Given the description of an element on the screen output the (x, y) to click on. 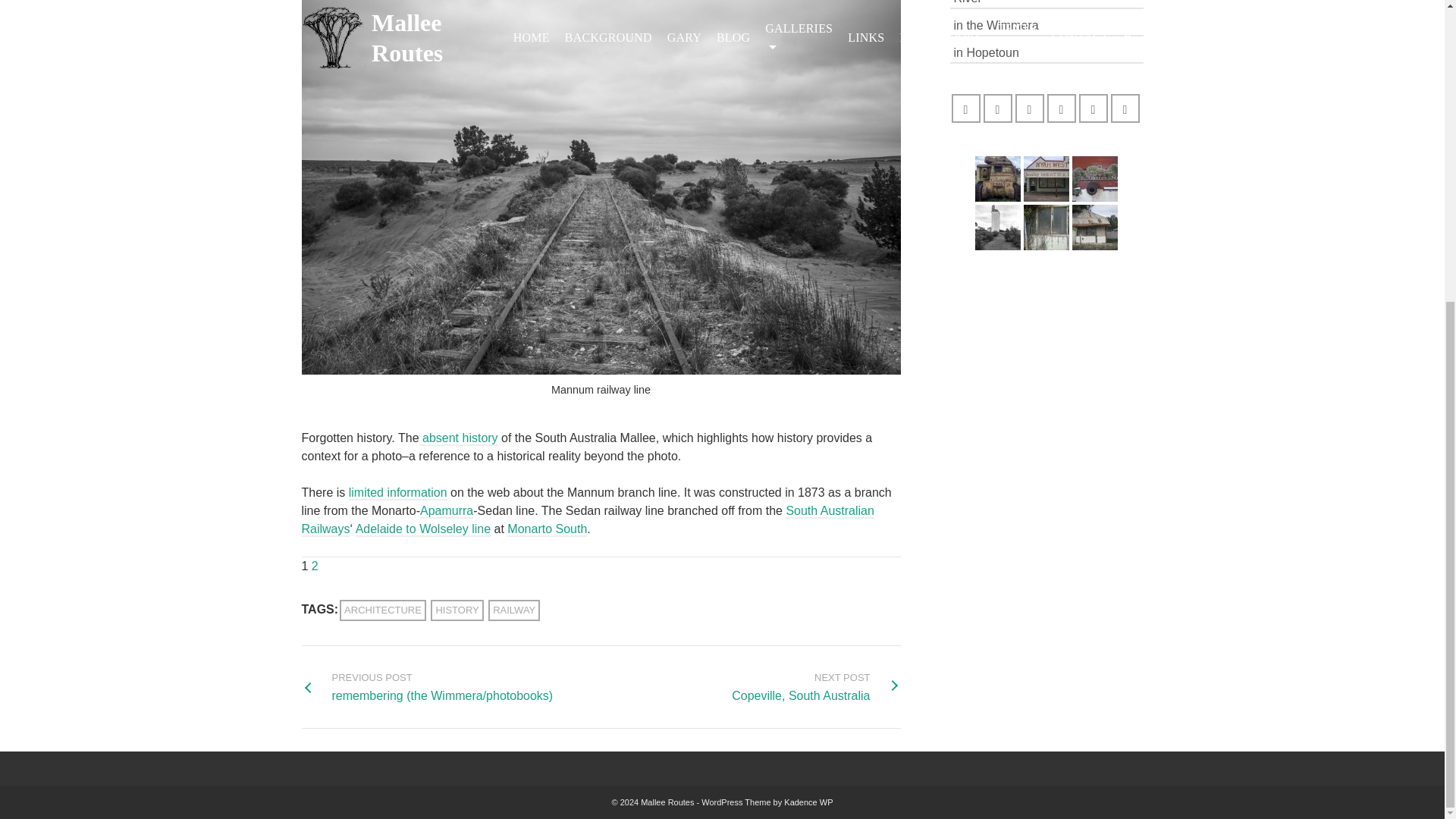
Lake Boga photo-camp (1045, 178)
Monarto South (546, 529)
RAILWAY (513, 609)
Copeville, South Australia (997, 227)
Adelaide to Wolseley line (422, 529)
ARCHITECTURE (382, 609)
limited information (397, 493)
Apamurra (446, 511)
February road trip: Parilla (1094, 227)
de-population (1045, 227)
Mallee Routes photobook (1094, 178)
HISTORY (815, 687)
South Australian Railways (456, 609)
absent history (588, 520)
